Given the description of an element on the screen output the (x, y) to click on. 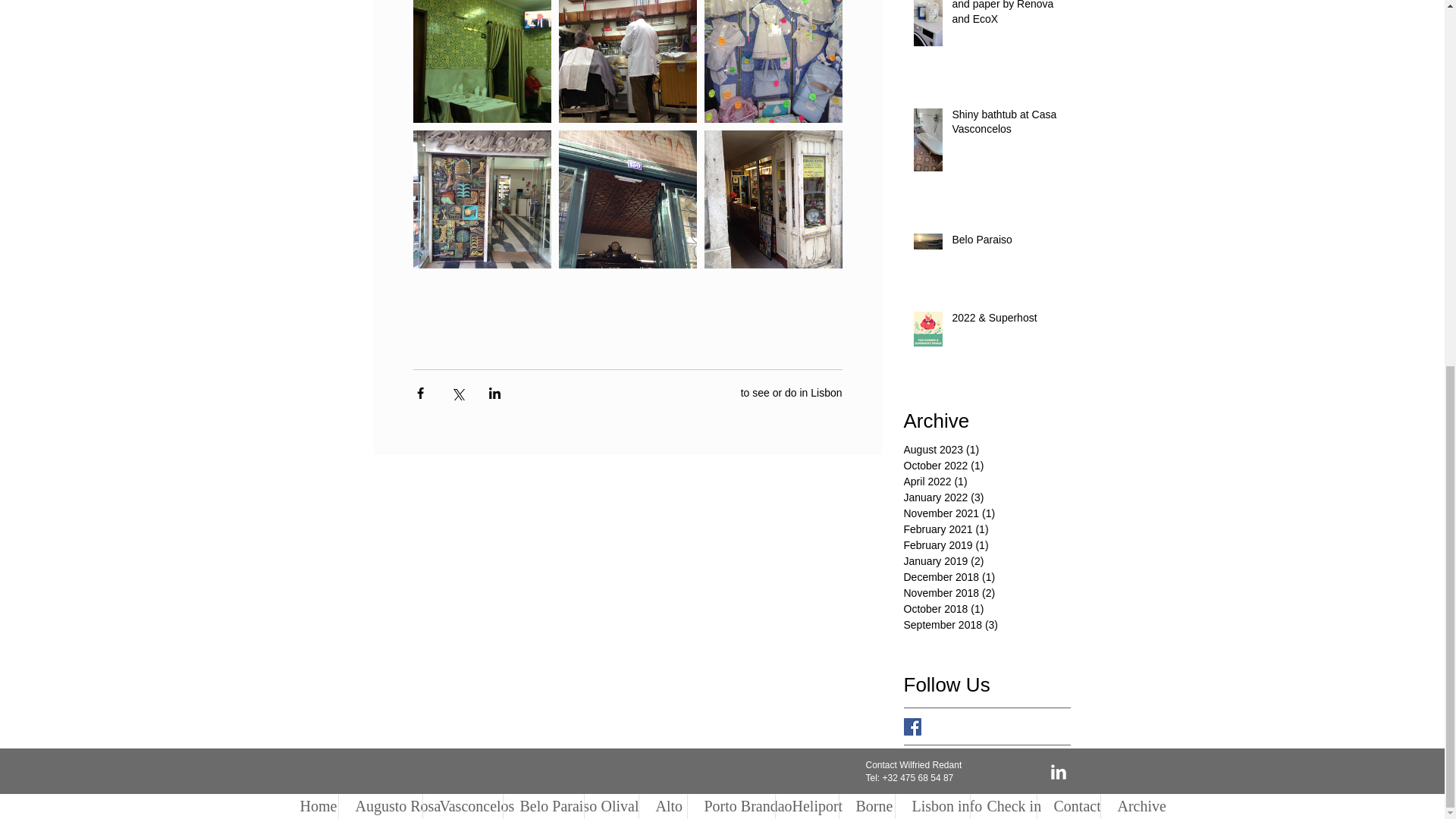
to see or do in Lisbon (792, 391)
